Given the description of an element on the screen output the (x, y) to click on. 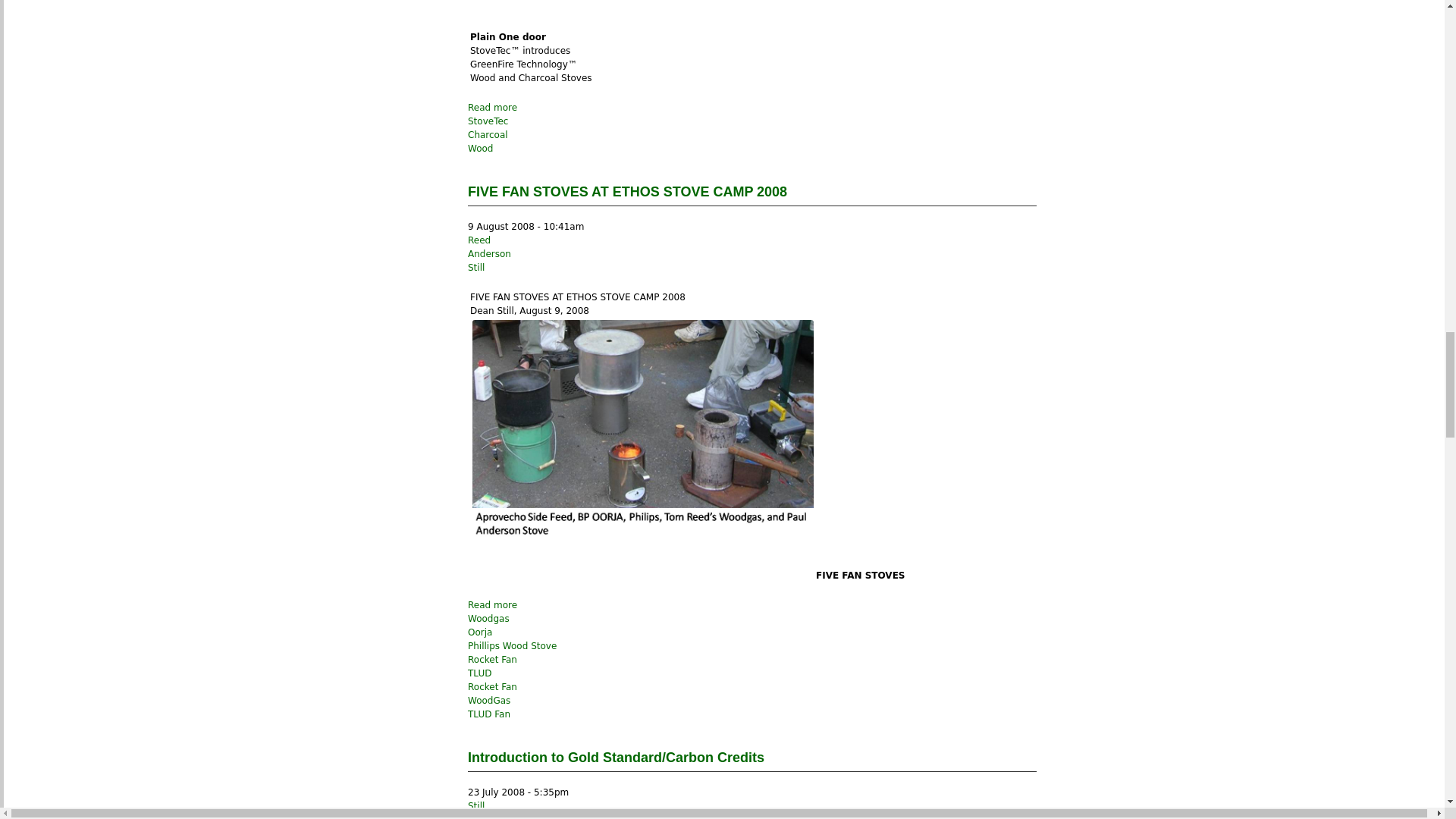
FIVE FAN STOVES (642, 448)
Charcoal (487, 134)
StoveTec (487, 121)
Plain One door (564, 12)
Read more (491, 107)
